Given the description of an element on the screen output the (x, y) to click on. 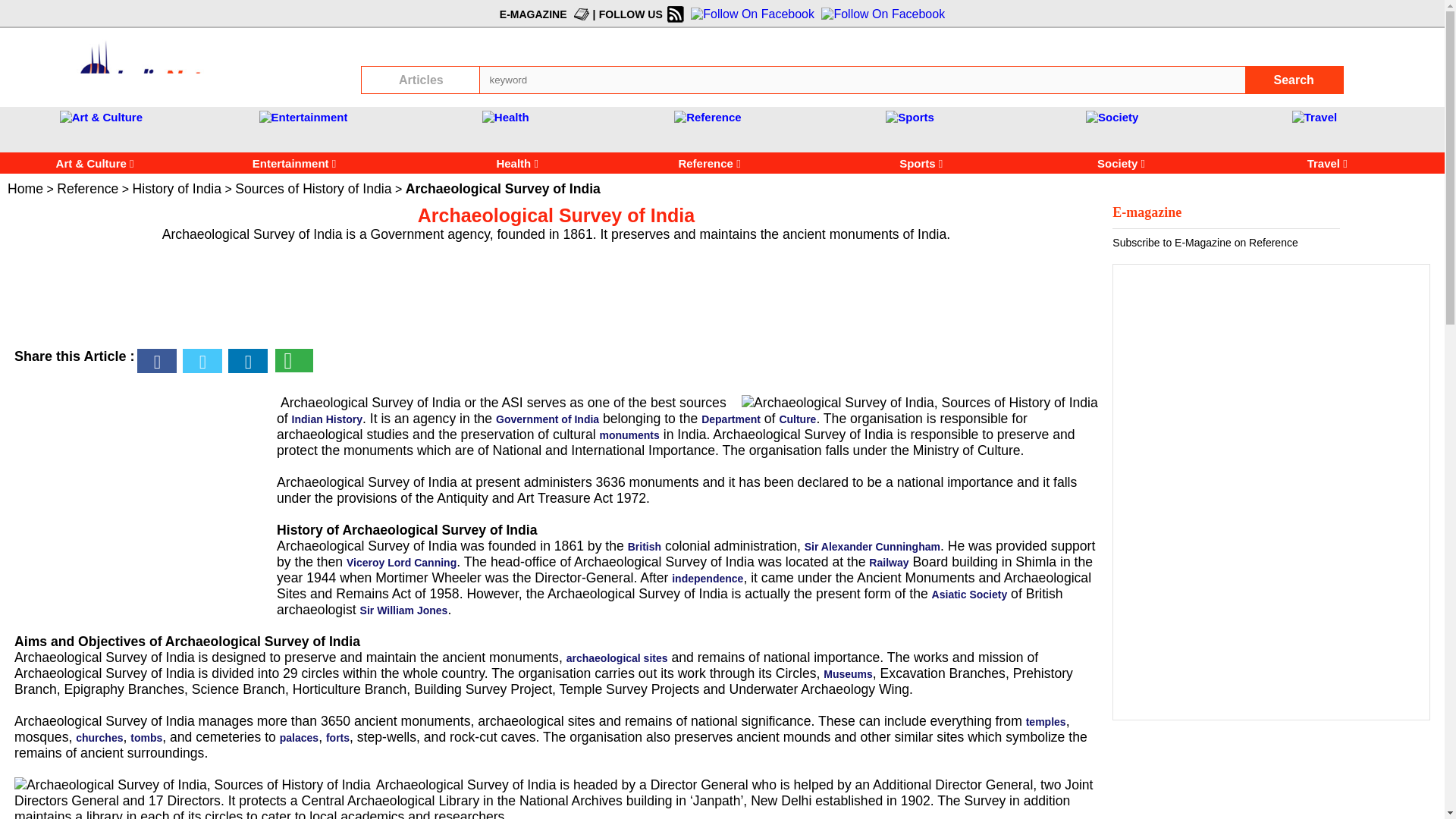
Reference (707, 116)
Reference (711, 163)
Largest  Encyclopedia on India with Lakhs of Articles (162, 66)
Health (508, 163)
Sources of History of India (312, 188)
Society (1112, 116)
Search (1293, 79)
Follow on Facebook (750, 14)
RSS Feed (673, 13)
Entertainment (273, 163)
